Given the description of an element on the screen output the (x, y) to click on. 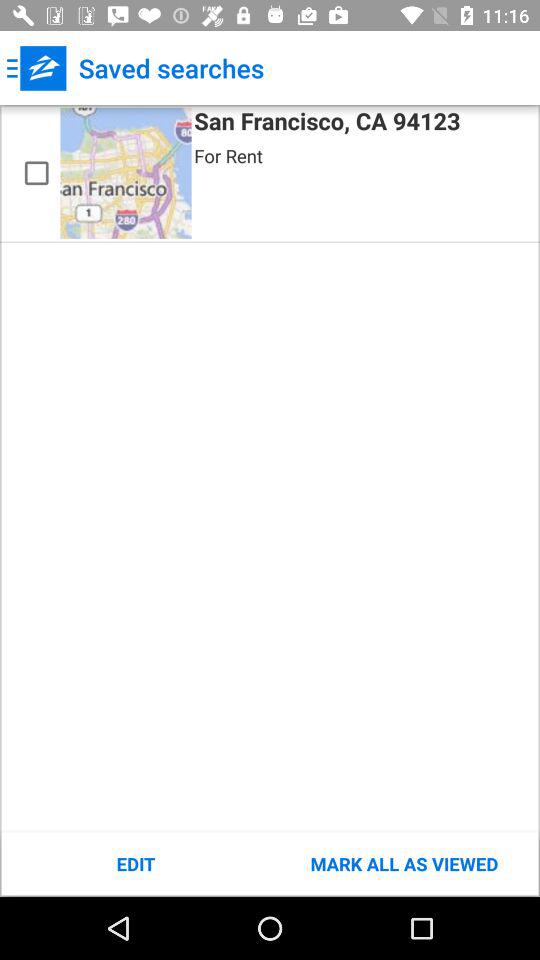
choose icon at the bottom left corner (135, 863)
